Given the description of an element on the screen output the (x, y) to click on. 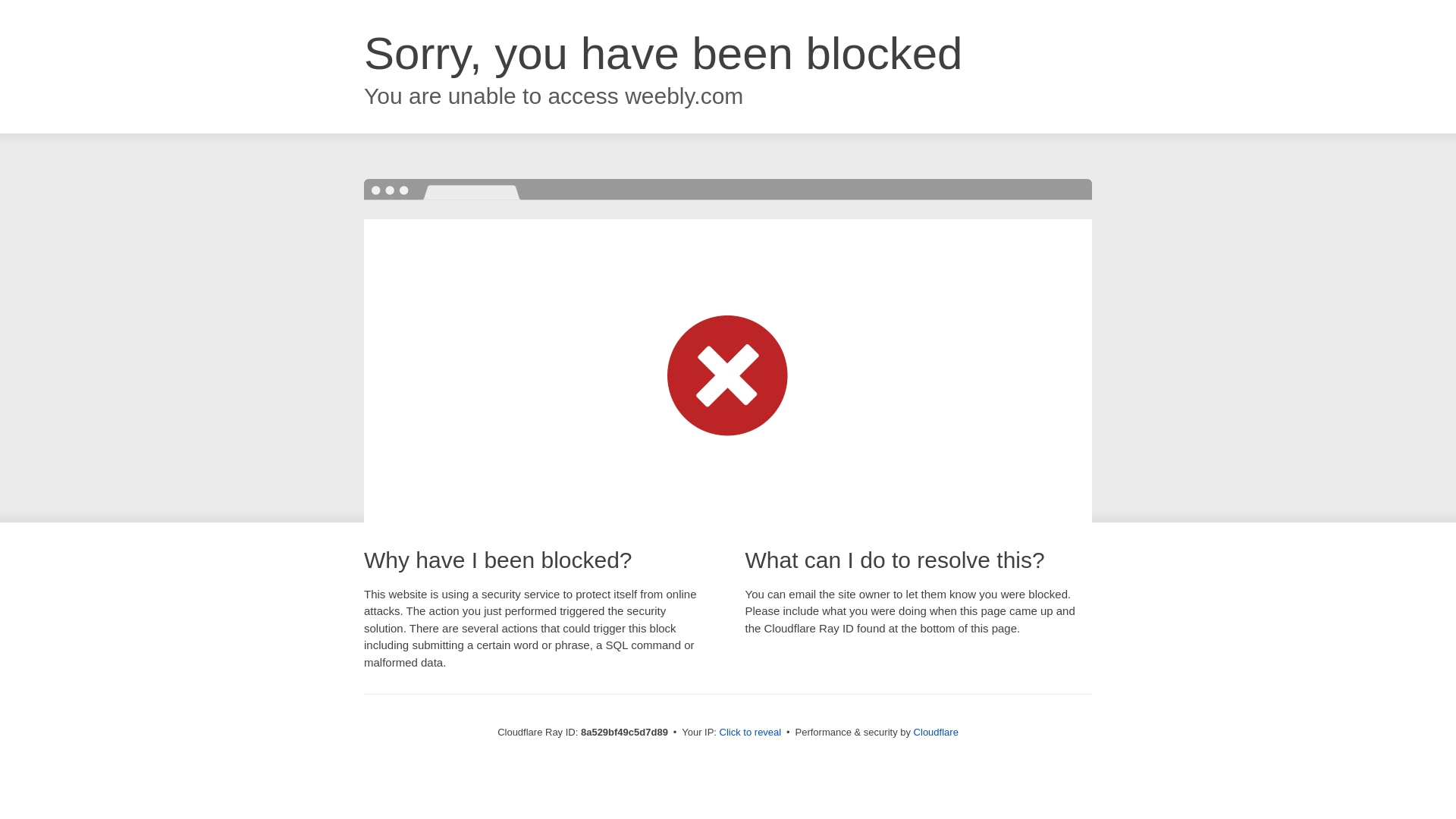
Cloudflare (936, 731)
Click to reveal (750, 732)
